Given the description of an element on the screen output the (x, y) to click on. 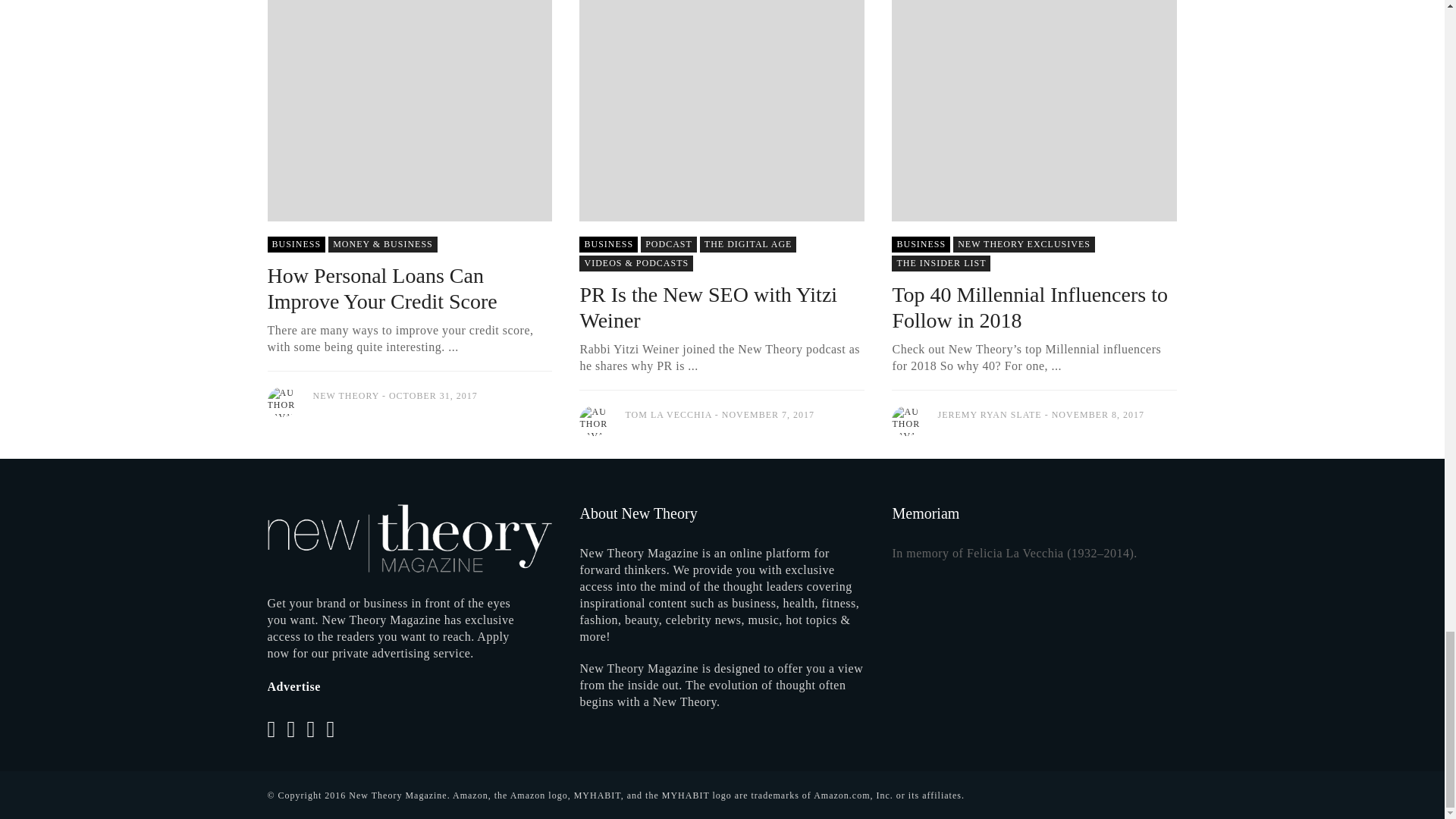
View all posts in 922 (636, 263)
View all posts in 3847 (668, 244)
View all posts in 3845 (608, 244)
View all posts in 3845 (920, 244)
View all posts in 923 (1023, 244)
View all posts in 152 (748, 244)
View all posts in 3034 (940, 263)
View all posts in 144 (383, 244)
View all posts in 3845 (295, 244)
